Given the description of an element on the screen output the (x, y) to click on. 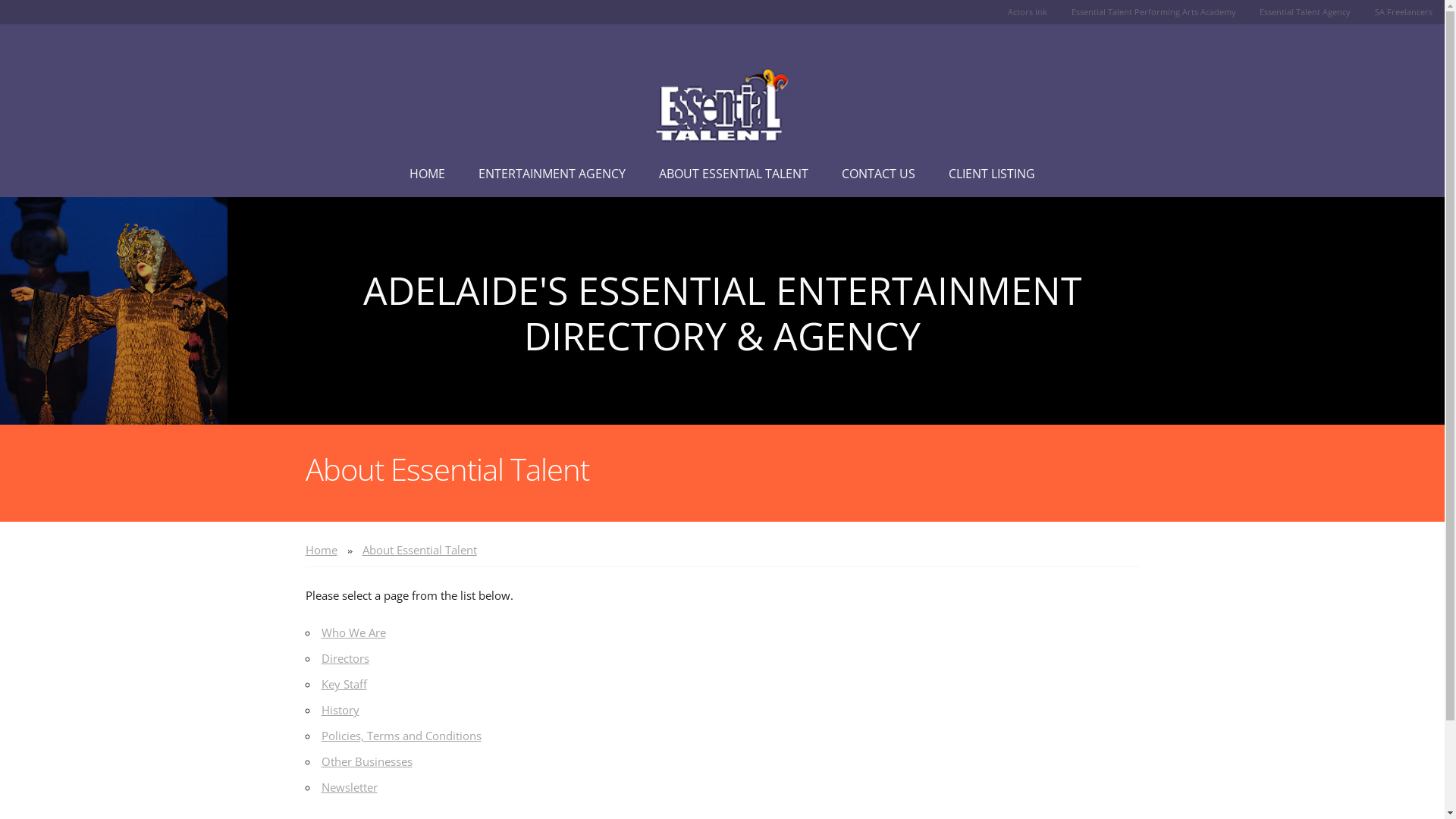
Essential Talent Performing Arts Academy Element type: text (1153, 11)
Essential Talent Agency Element type: text (1304, 11)
ABOUT ESSENTIAL TALENT Element type: text (733, 173)
Actors Ink Element type: text (1027, 11)
Home Element type: text (320, 549)
CLIENT LISTING Element type: text (991, 173)
Policies, Terms and Conditions Element type: text (401, 735)
Directors Element type: text (345, 657)
History Element type: text (340, 709)
SA Freelancers Element type: text (1403, 11)
Newsletter Element type: text (349, 786)
HOME Element type: text (427, 173)
Who We Are Element type: text (353, 632)
Other Businesses Element type: text (366, 760)
Key Staff Element type: text (344, 683)
CONTACT US Element type: text (878, 173)
About Essential Talent Element type: text (419, 549)
ENTERTAINMENT AGENCY Element type: text (551, 173)
